Given the description of an element on the screen output the (x, y) to click on. 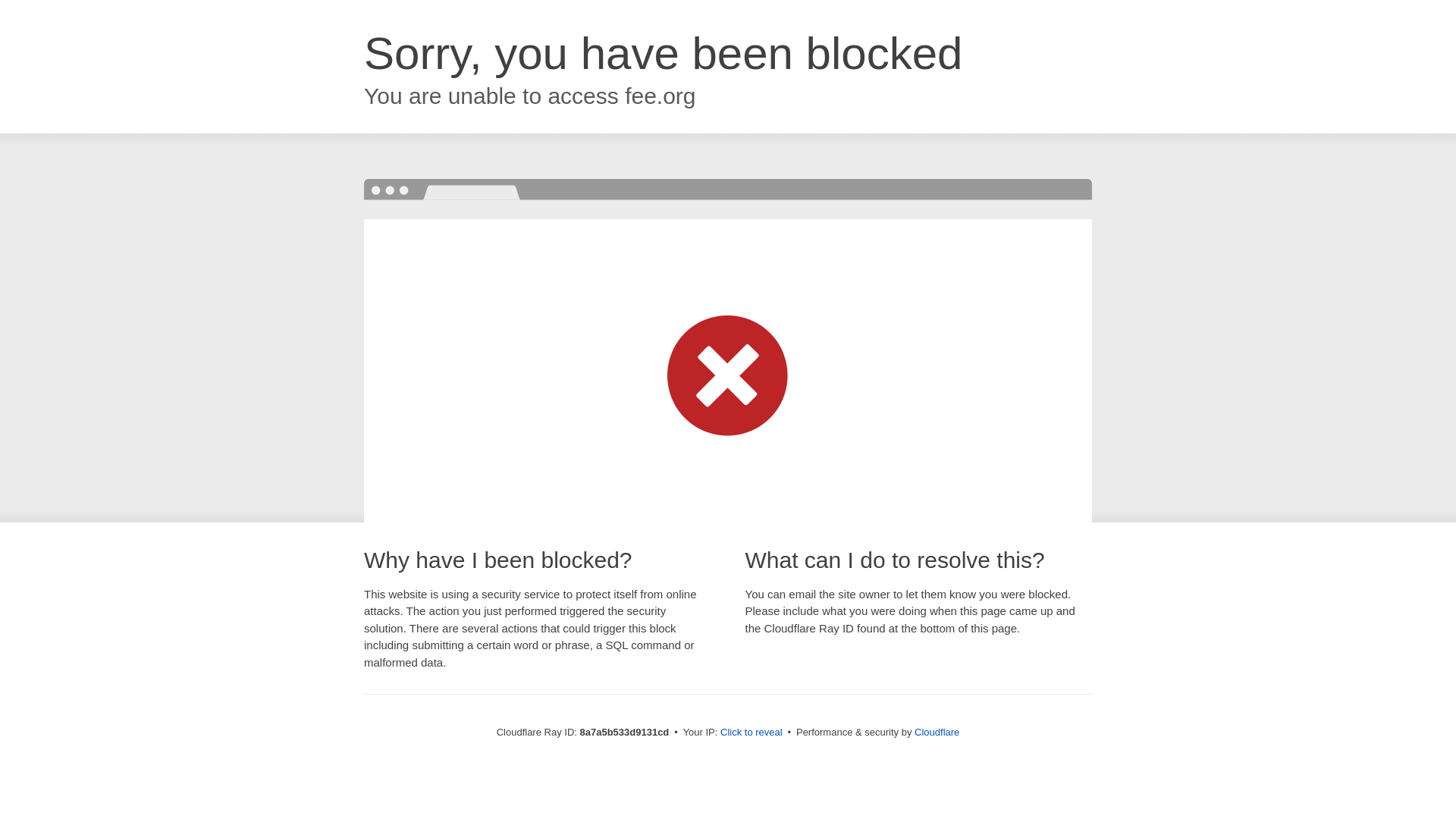
Cloudflare (936, 731)
Click to reveal (751, 732)
